Given the description of an element on the screen output the (x, y) to click on. 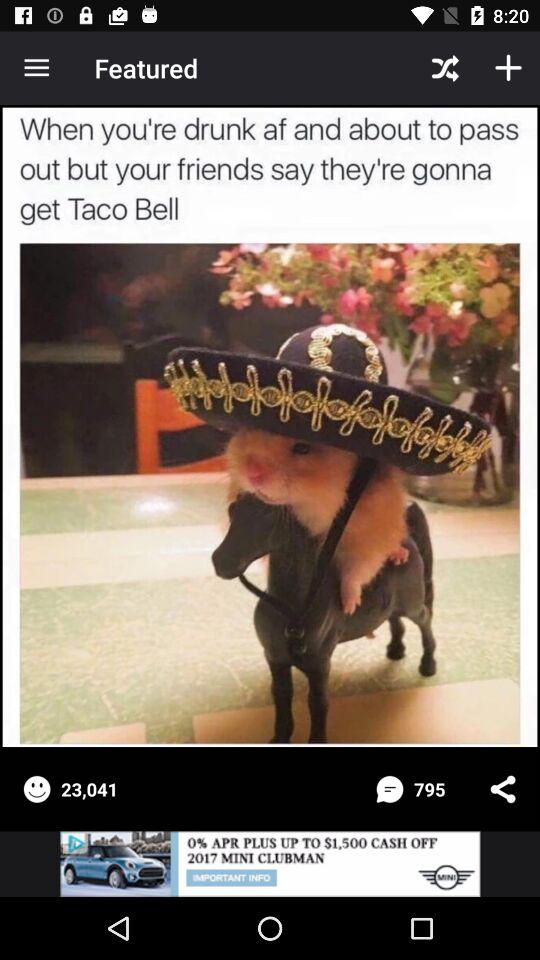
see advertisement (270, 864)
